Given the description of an element on the screen output the (x, y) to click on. 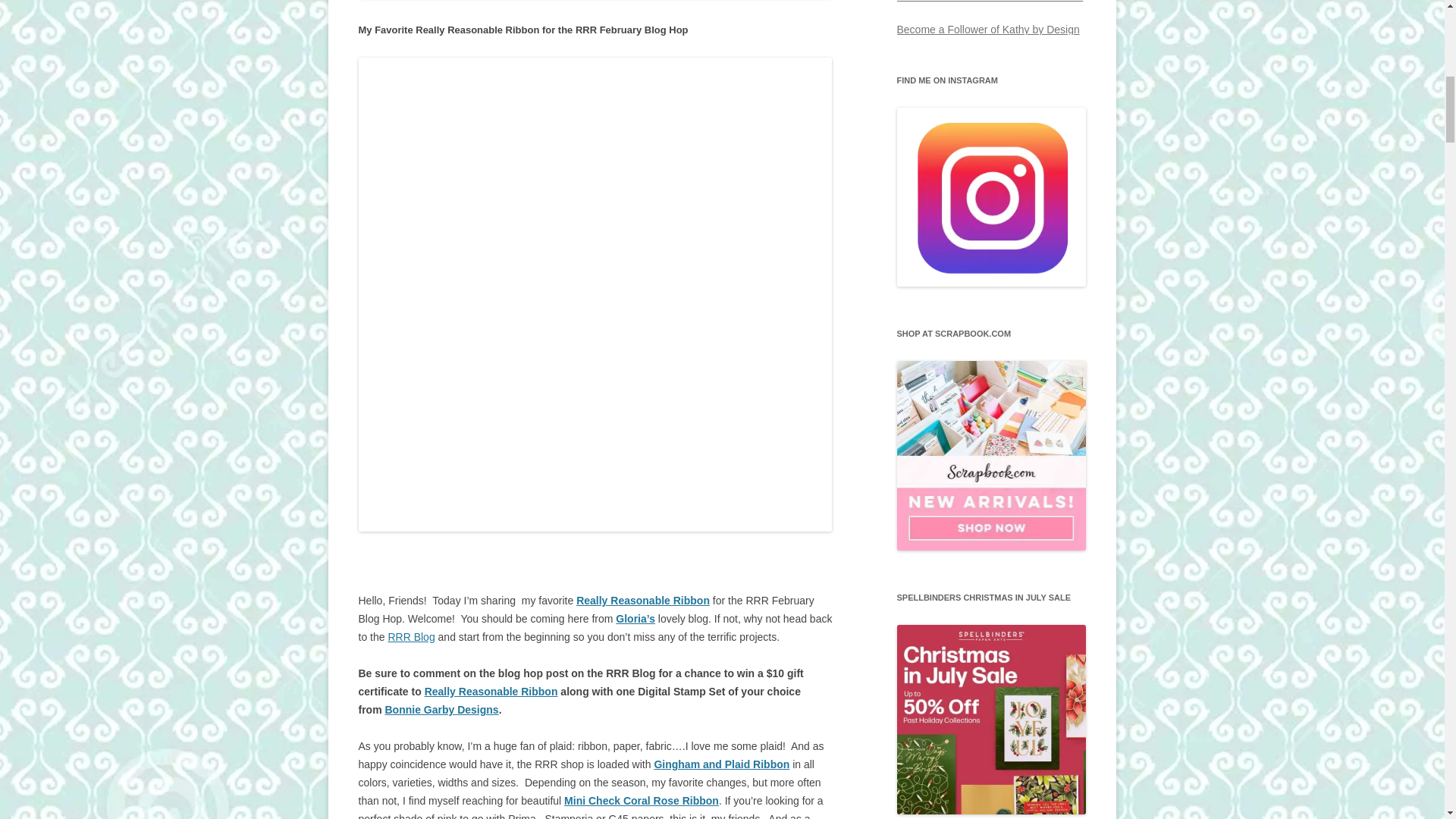
Gingham and Plaid Ribbon (721, 764)
Really Reasonable Ribbon (491, 691)
Bonnie Garby Designs (442, 709)
Mini Check Coral Rose Ribbon (641, 800)
Really Reasonable Ribbon (643, 600)
RRR Blog (410, 636)
